Given the description of an element on the screen output the (x, y) to click on. 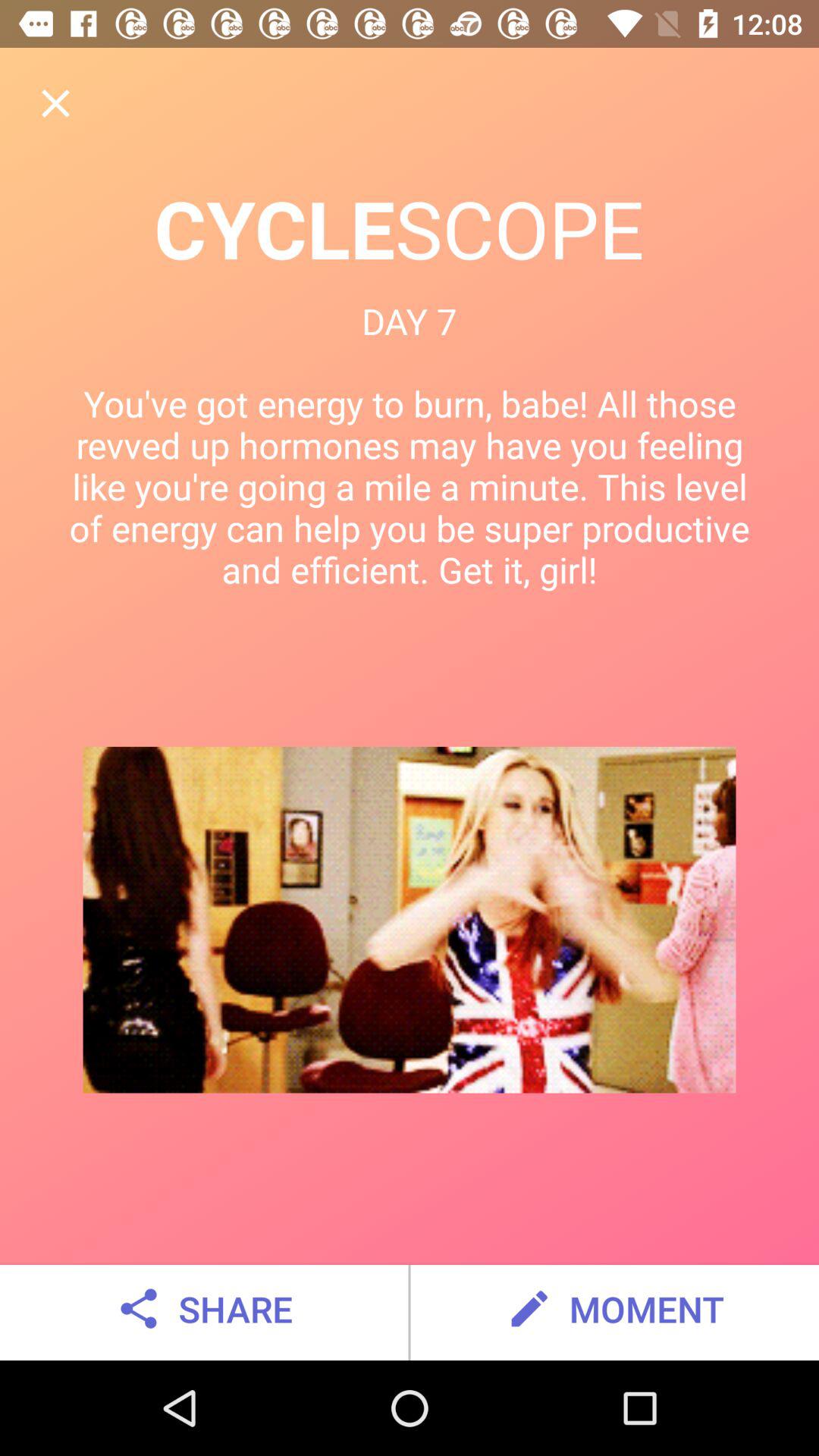
press moment at the bottom right corner (614, 1308)
